Given the description of an element on the screen output the (x, y) to click on. 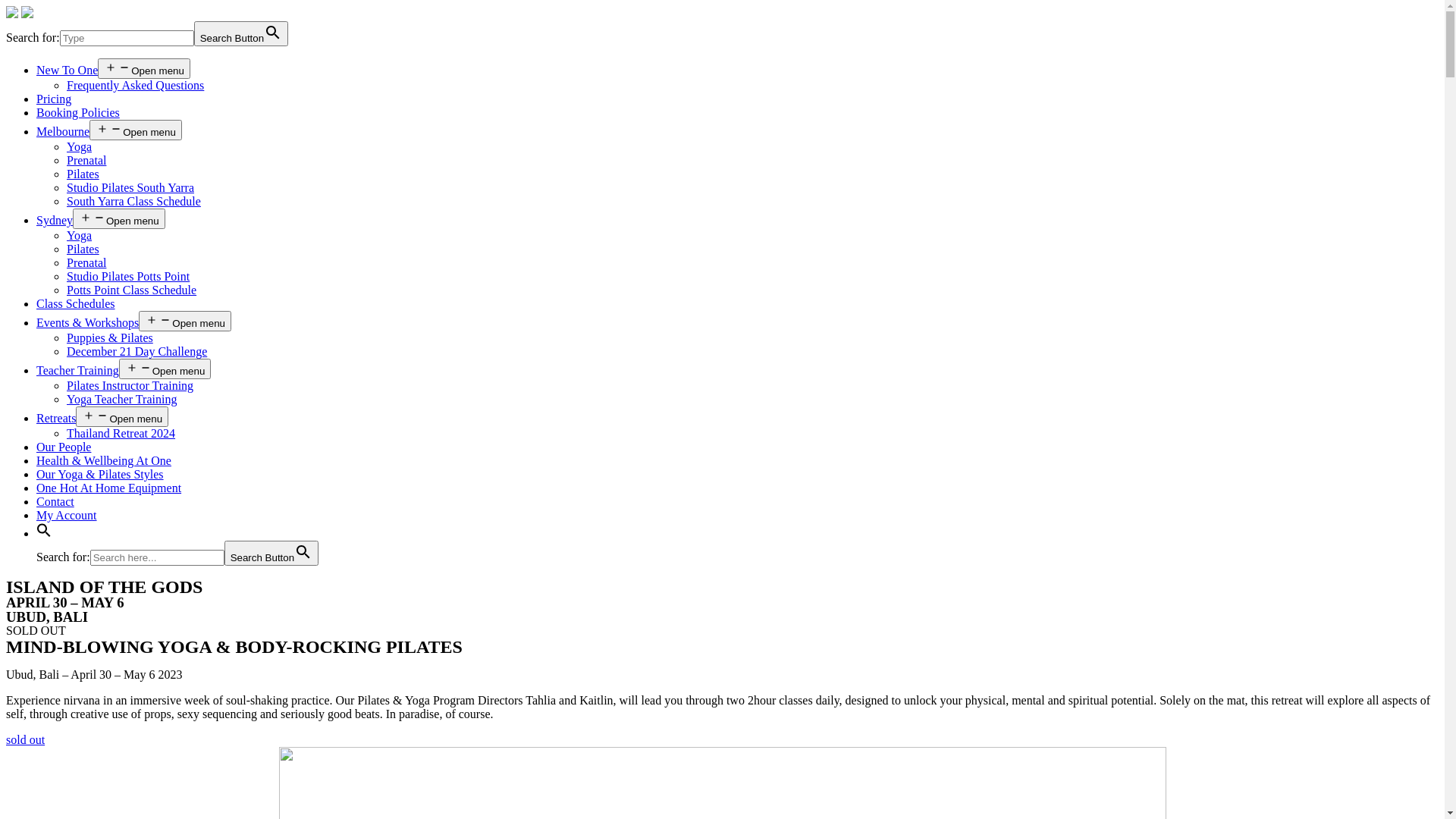
Melbourne Element type: text (62, 131)
One Hot At Home Equipment Element type: text (108, 487)
Yoga Element type: text (78, 235)
Pilates Element type: text (82, 173)
Search Button Element type: text (241, 33)
My Account Element type: text (66, 514)
Open menu Element type: text (135, 129)
Events & Workshops Element type: text (87, 322)
Yoga Teacher Training Element type: text (121, 398)
Retreats Element type: text (55, 417)
Teacher Training Element type: text (77, 370)
Pricing Element type: text (53, 98)
Pilates Instructor Training Element type: text (129, 385)
Pilates Element type: text (82, 248)
Sydney Element type: text (54, 219)
Studio Pilates Potts Point Element type: text (127, 275)
New To One Element type: text (66, 69)
December 21 Day Challenge Element type: text (136, 351)
Open menu Element type: text (165, 368)
Booking Policies Element type: text (77, 112)
Thailand Retreat 2024 Element type: text (120, 432)
Frequently Asked Questions Element type: text (134, 84)
Studio Pilates South Yarra Element type: text (130, 187)
Open menu Element type: text (121, 416)
Open menu Element type: text (118, 218)
Class Schedules Element type: text (75, 303)
sold out Element type: text (25, 739)
South Yarra Class Schedule Element type: text (133, 200)
Search Button Element type: text (271, 552)
Our People Element type: text (63, 446)
Puppies & Pilates Element type: text (109, 337)
Health & Wellbeing At One Element type: text (103, 460)
Potts Point Class Schedule Element type: text (131, 289)
Prenatal Element type: text (86, 159)
Yoga Element type: text (78, 146)
Contact Element type: text (55, 501)
Open menu Element type: text (184, 320)
Open menu Element type: text (143, 68)
Prenatal Element type: text (86, 262)
Our Yoga & Pilates Styles Element type: text (99, 473)
